Given the description of an element on the screen output the (x, y) to click on. 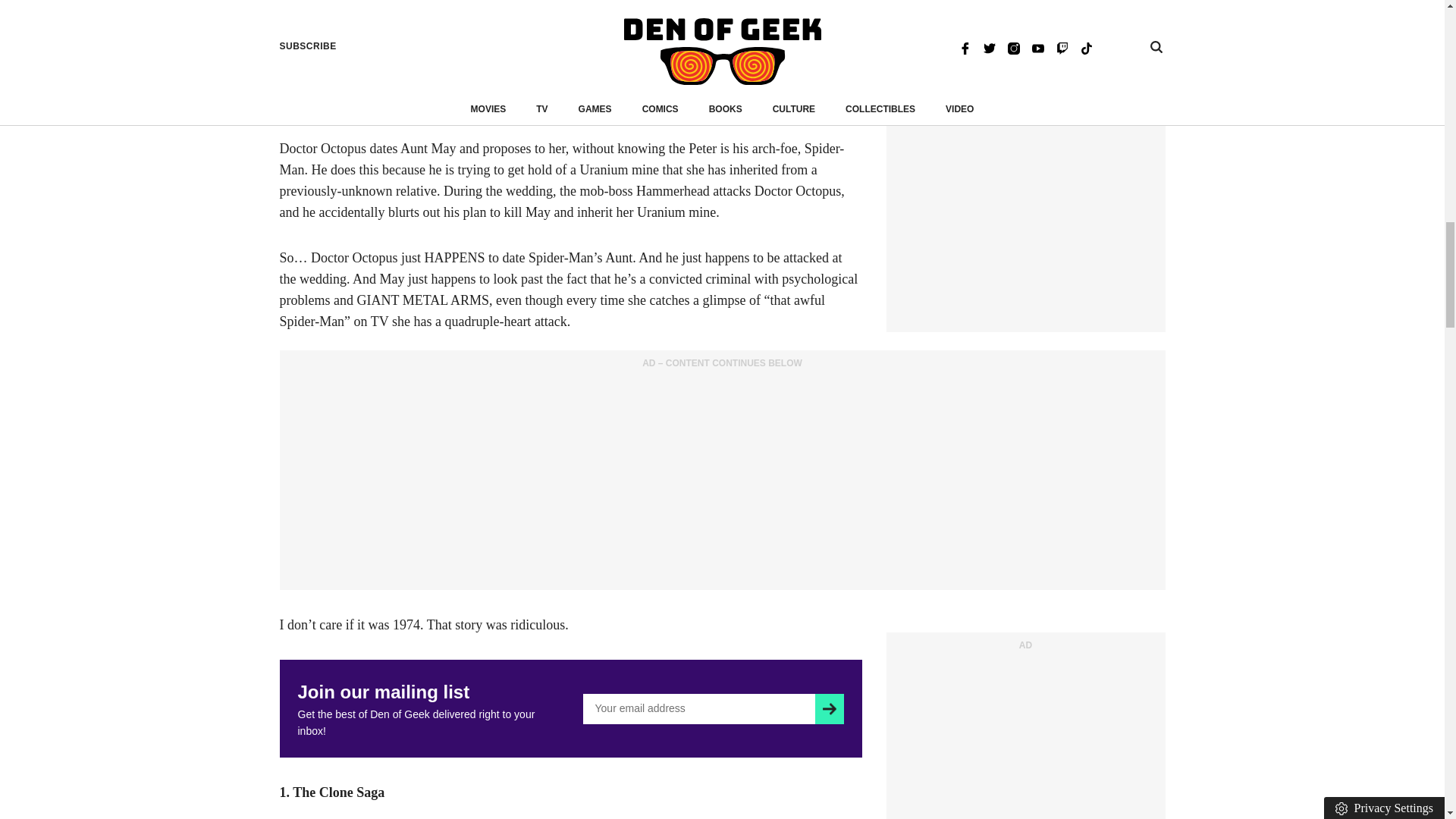
Subscribe (829, 708)
